Given the description of an element on the screen output the (x, y) to click on. 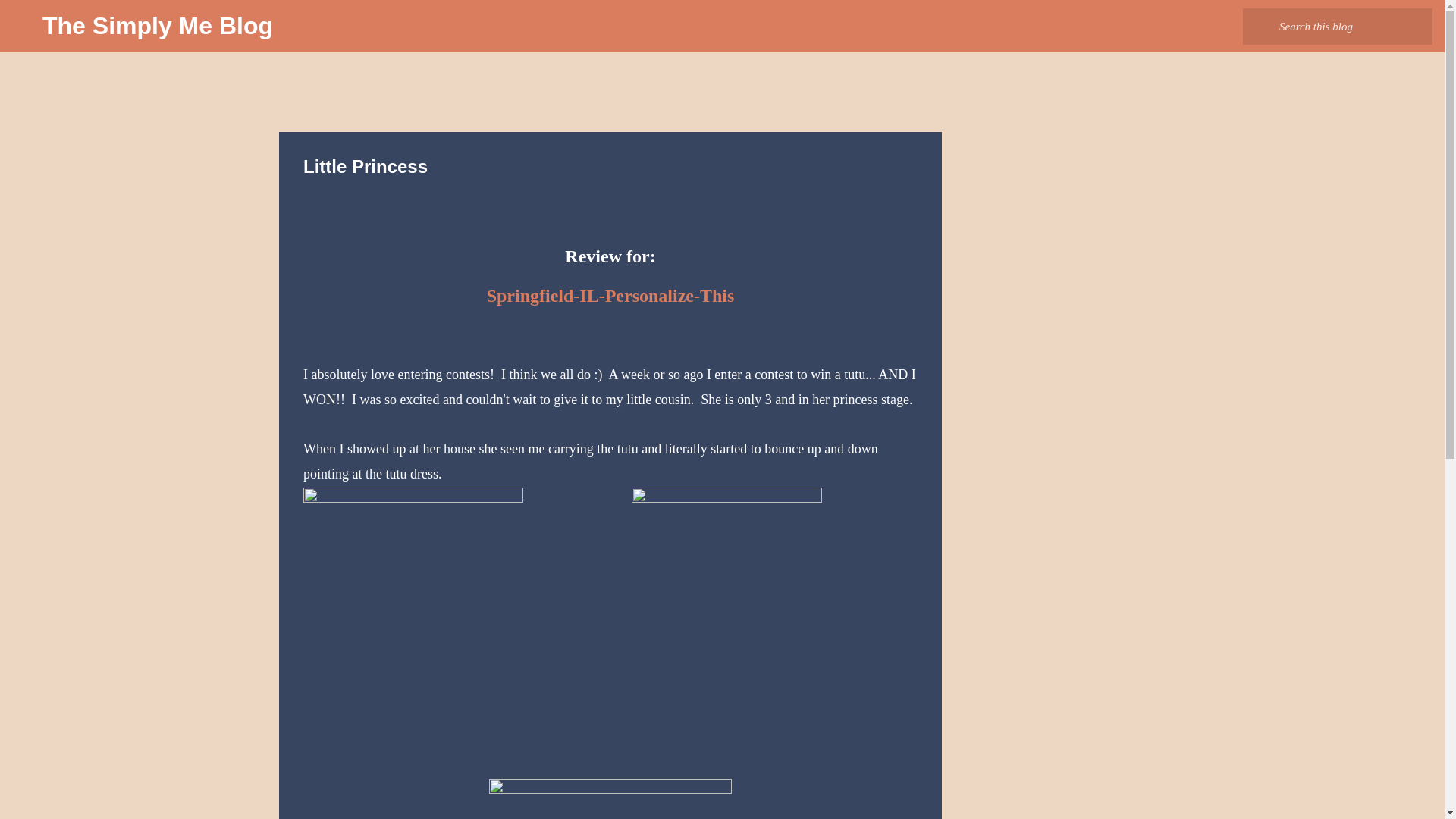
Springfield-IL-Personalize-This (610, 295)
The Simply Me Blog (157, 25)
